Given the description of an element on the screen output the (x, y) to click on. 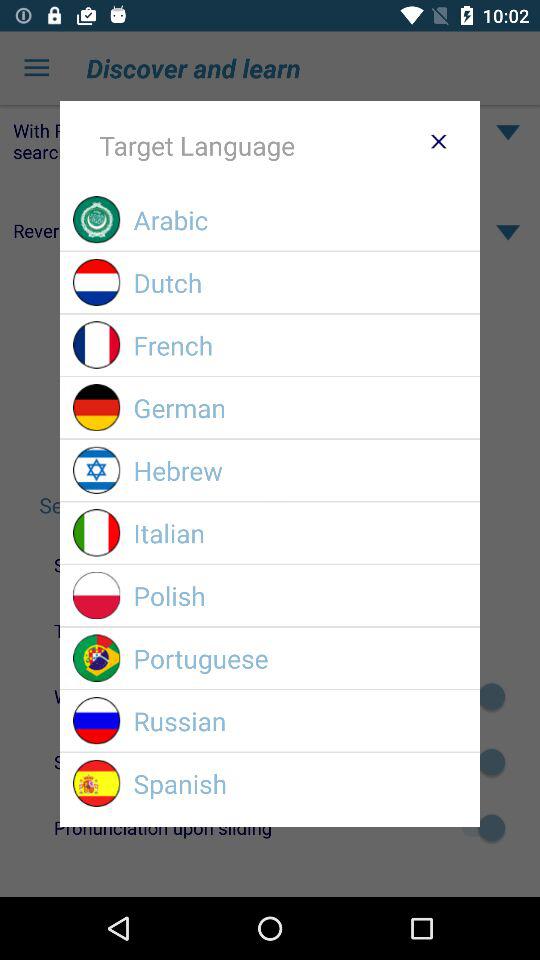
turn off the icon below the target language icon (300, 219)
